Given the description of an element on the screen output the (x, y) to click on. 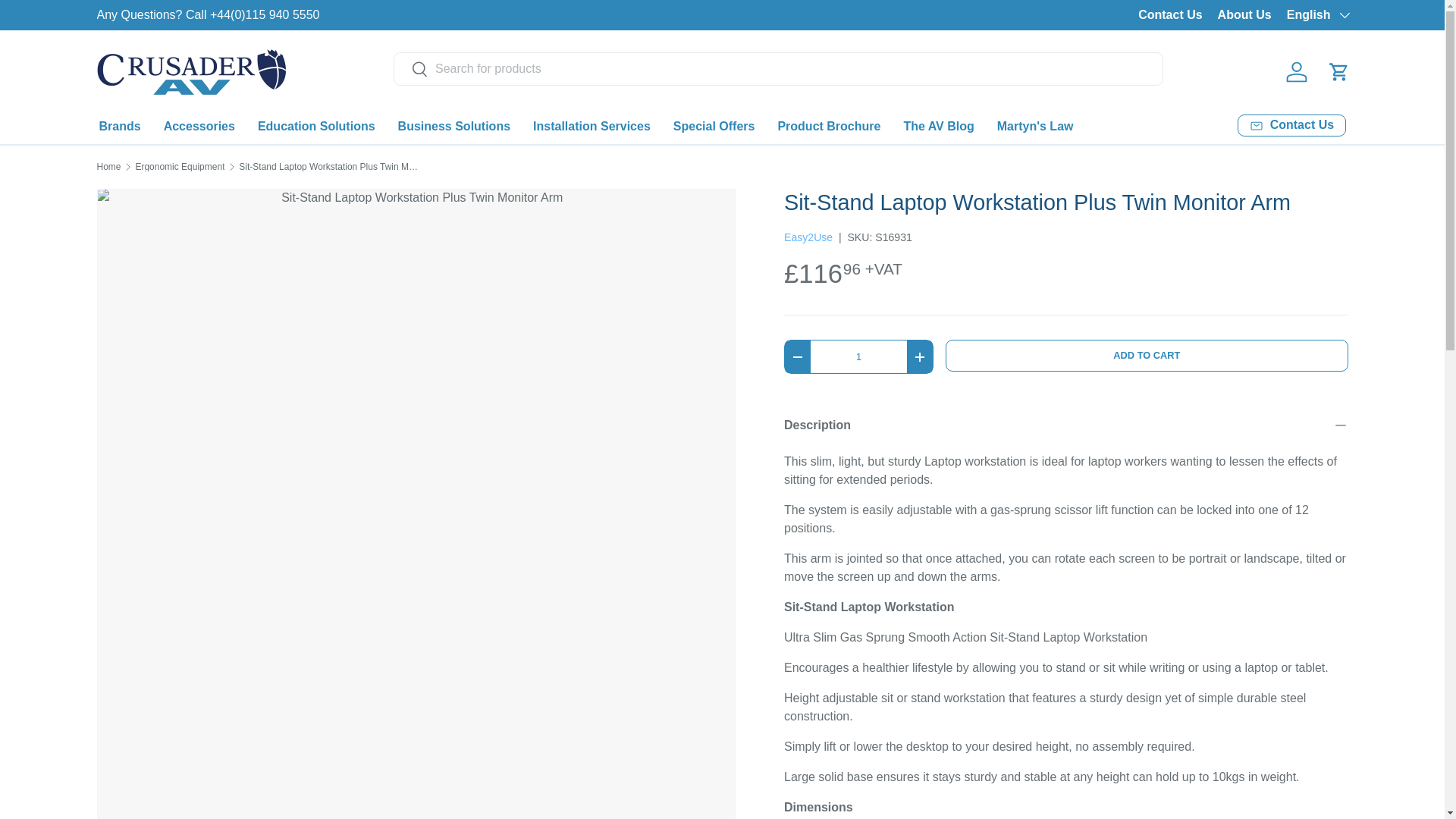
Special Offers (713, 125)
Home (108, 166)
Installation Services (591, 125)
Product Brochure (828, 125)
English (1317, 14)
Log in (1296, 71)
ADD TO CART (1146, 355)
Learn more (1280, 14)
1 (858, 356)
Brands (119, 125)
